Given the description of an element on the screen output the (x, y) to click on. 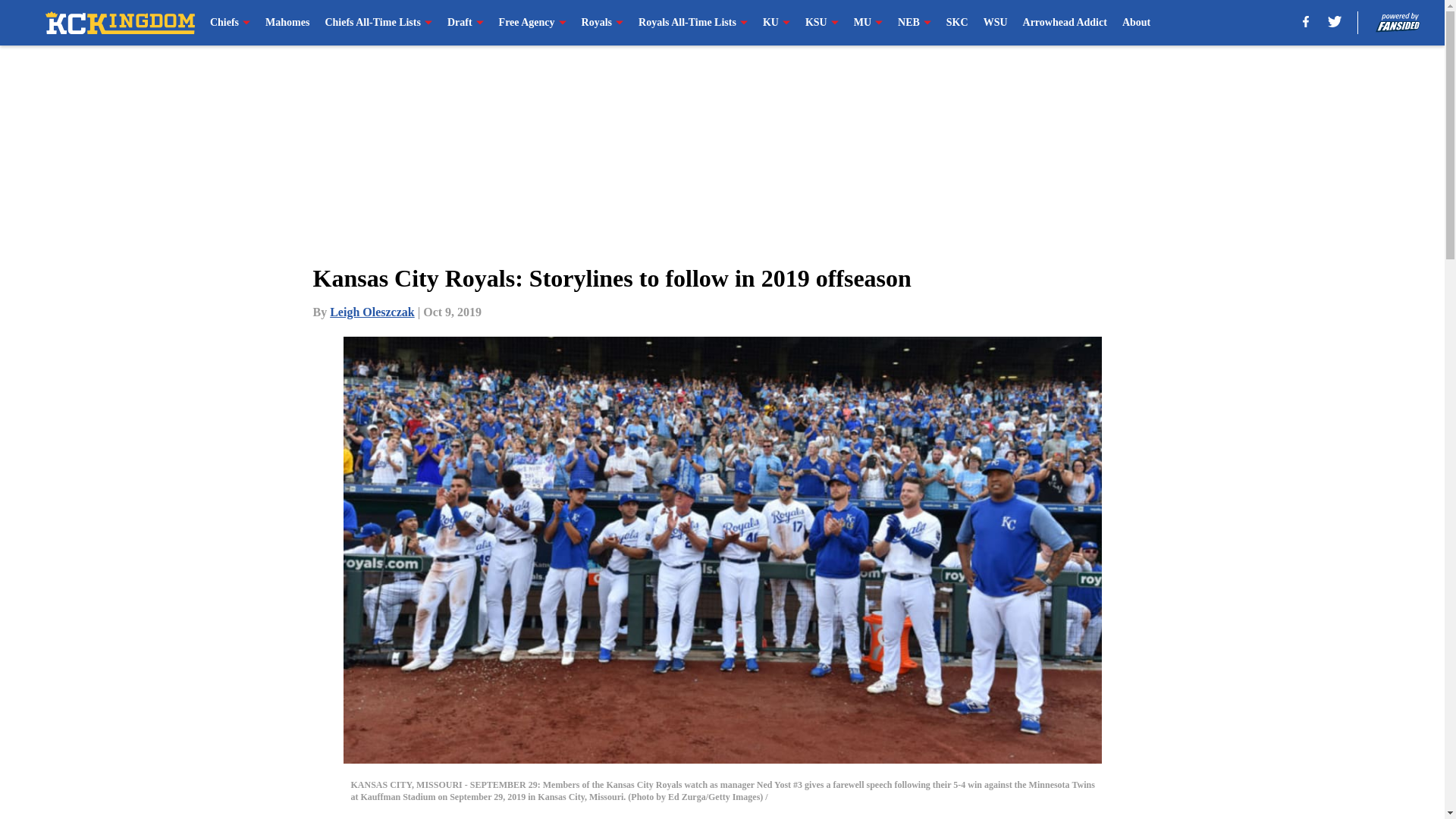
Mahomes (286, 22)
